Given the description of an element on the screen output the (x, y) to click on. 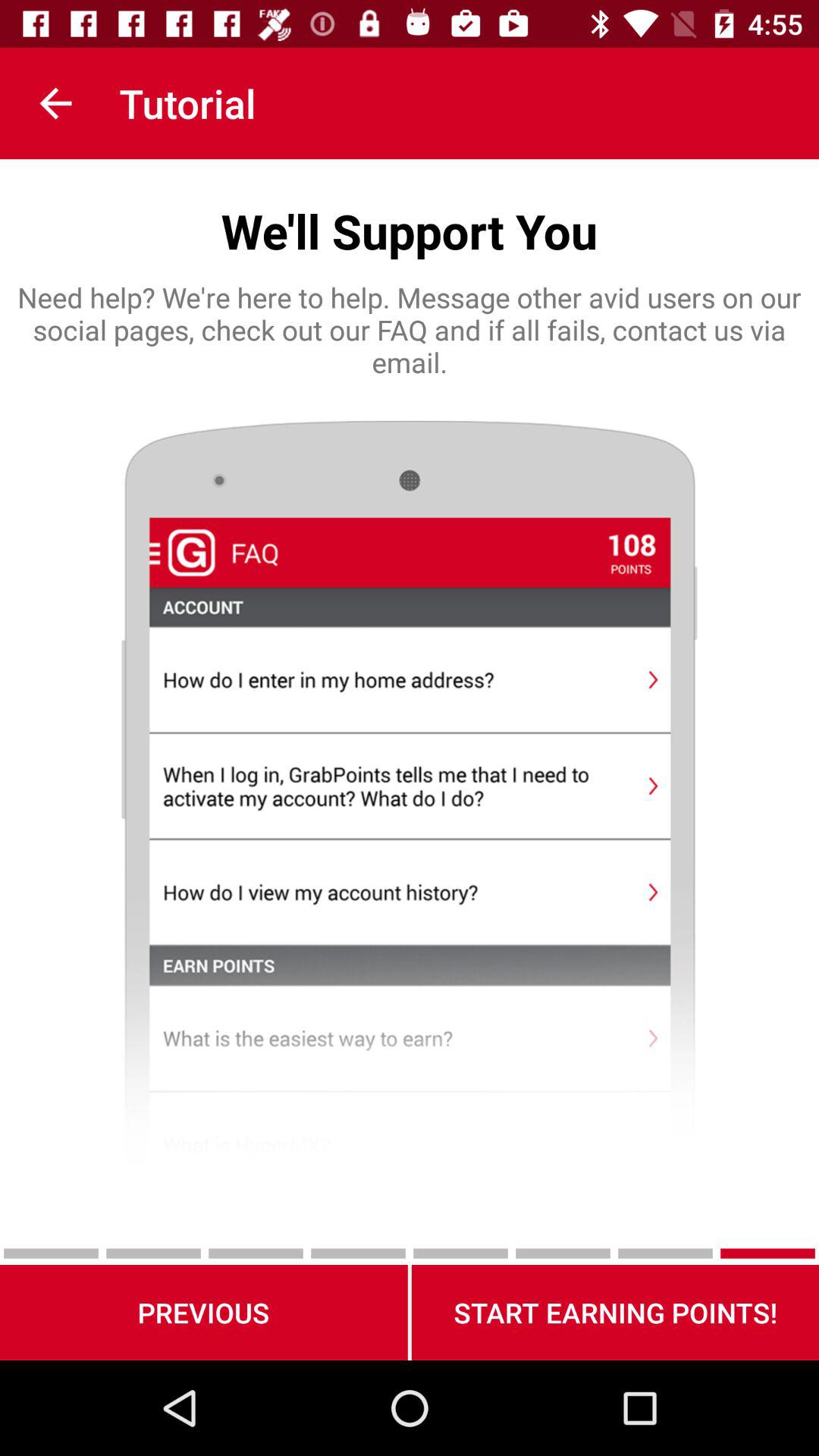
choose the item to the left of the start earning points! (203, 1312)
